Given the description of an element on the screen output the (x, y) to click on. 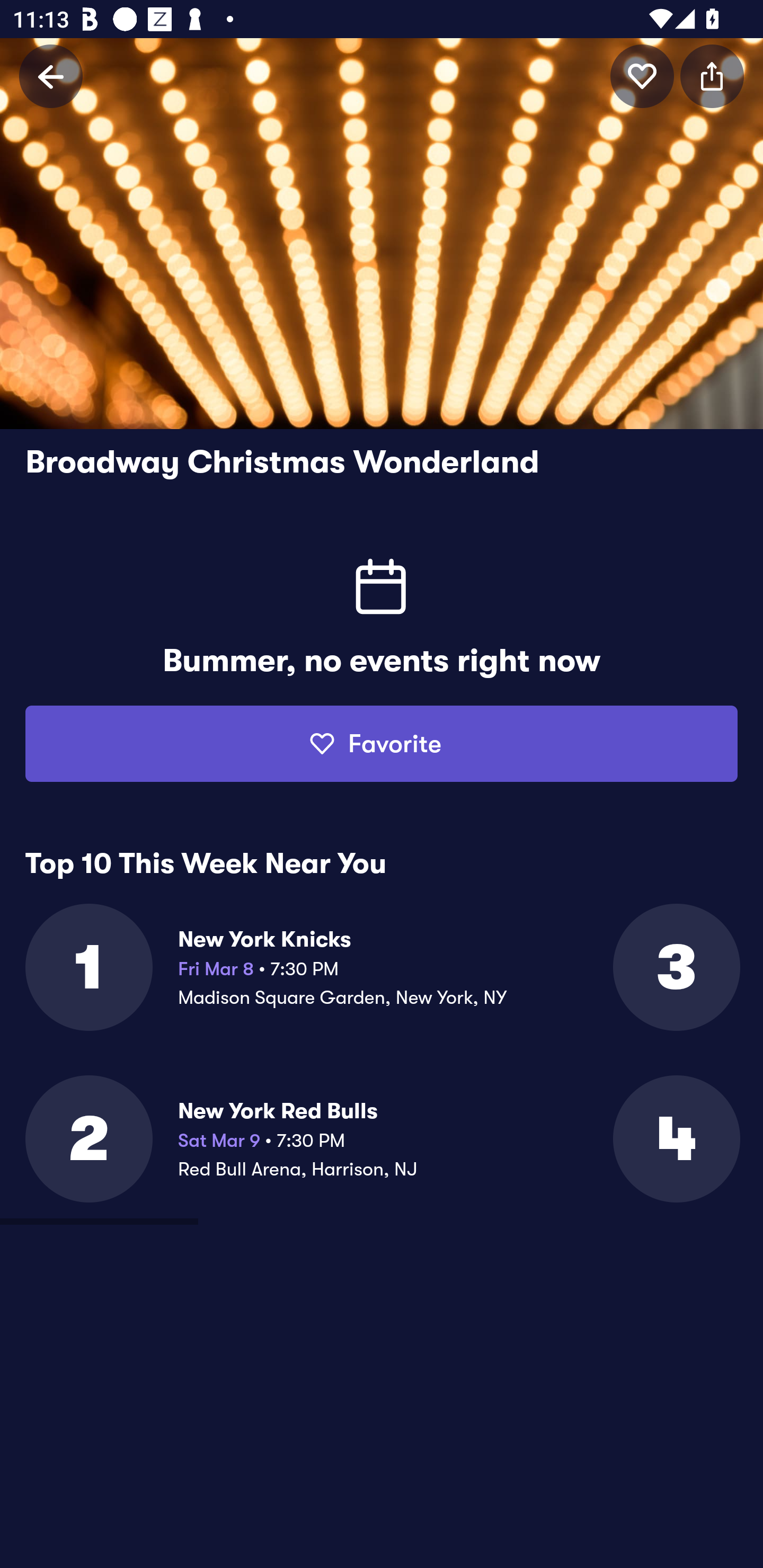
Back (50, 75)
icon button (641, 75)
icon button (711, 75)
Favorite (381, 743)
3 (675, 967)
4 (675, 1138)
